Given the description of an element on the screen output the (x, y) to click on. 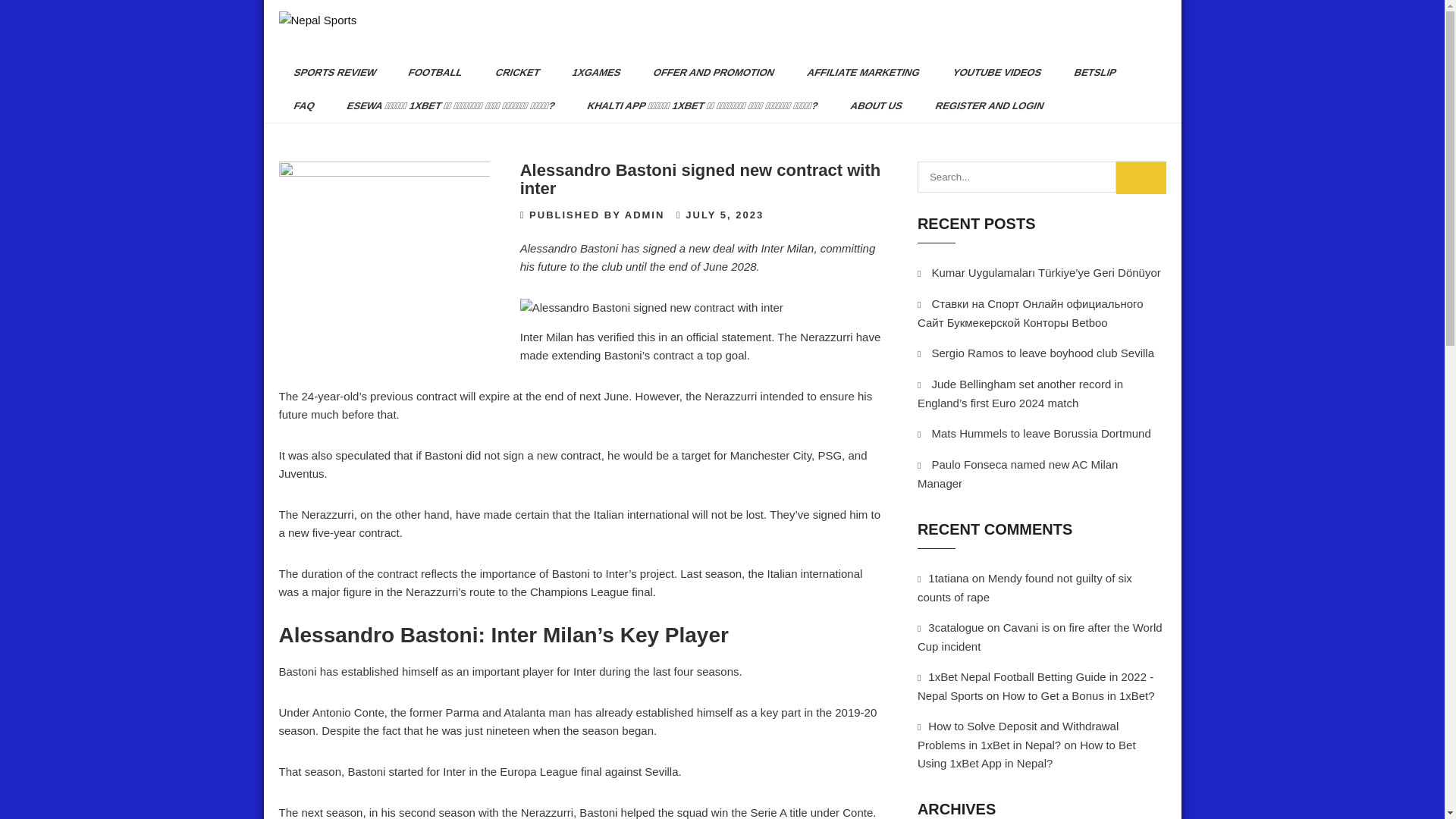
CRICKET (511, 72)
Search (1141, 177)
Nepal Sports (309, 54)
1XGAMES (590, 72)
REGISTER AND LOGIN (983, 105)
ABOUT US (870, 105)
How to Get a Bonus in 1xBet? (1078, 695)
Sergio Ramos to leave boyhood club Sevilla (1042, 352)
FOOTBALL (429, 72)
